Given the description of an element on the screen output the (x, y) to click on. 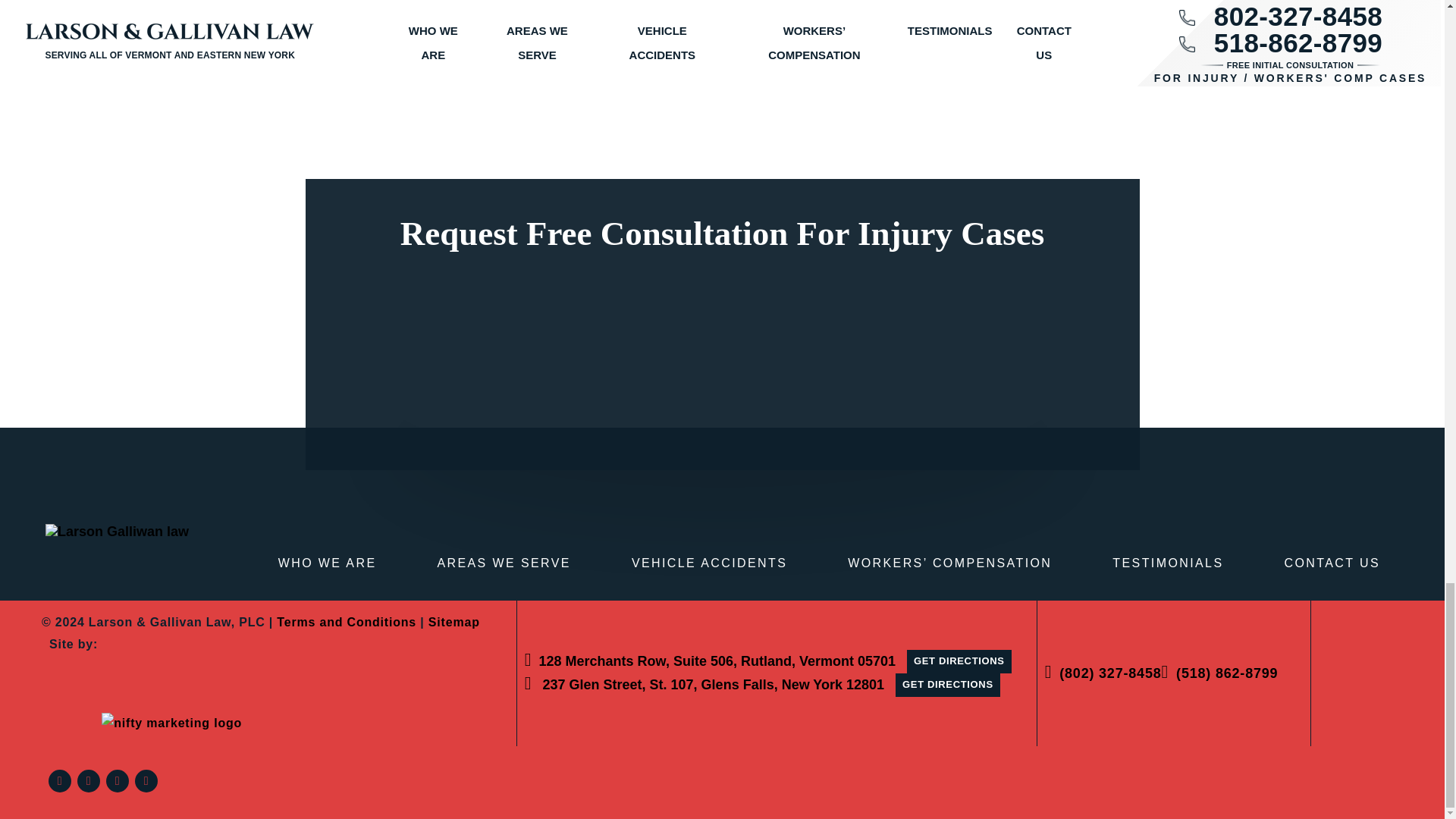
Youtube (146, 780)
Facebook (59, 780)
Twitter (88, 780)
Contact Form (721, 348)
LinkedIn (117, 780)
